Given the description of an element on the screen output the (x, y) to click on. 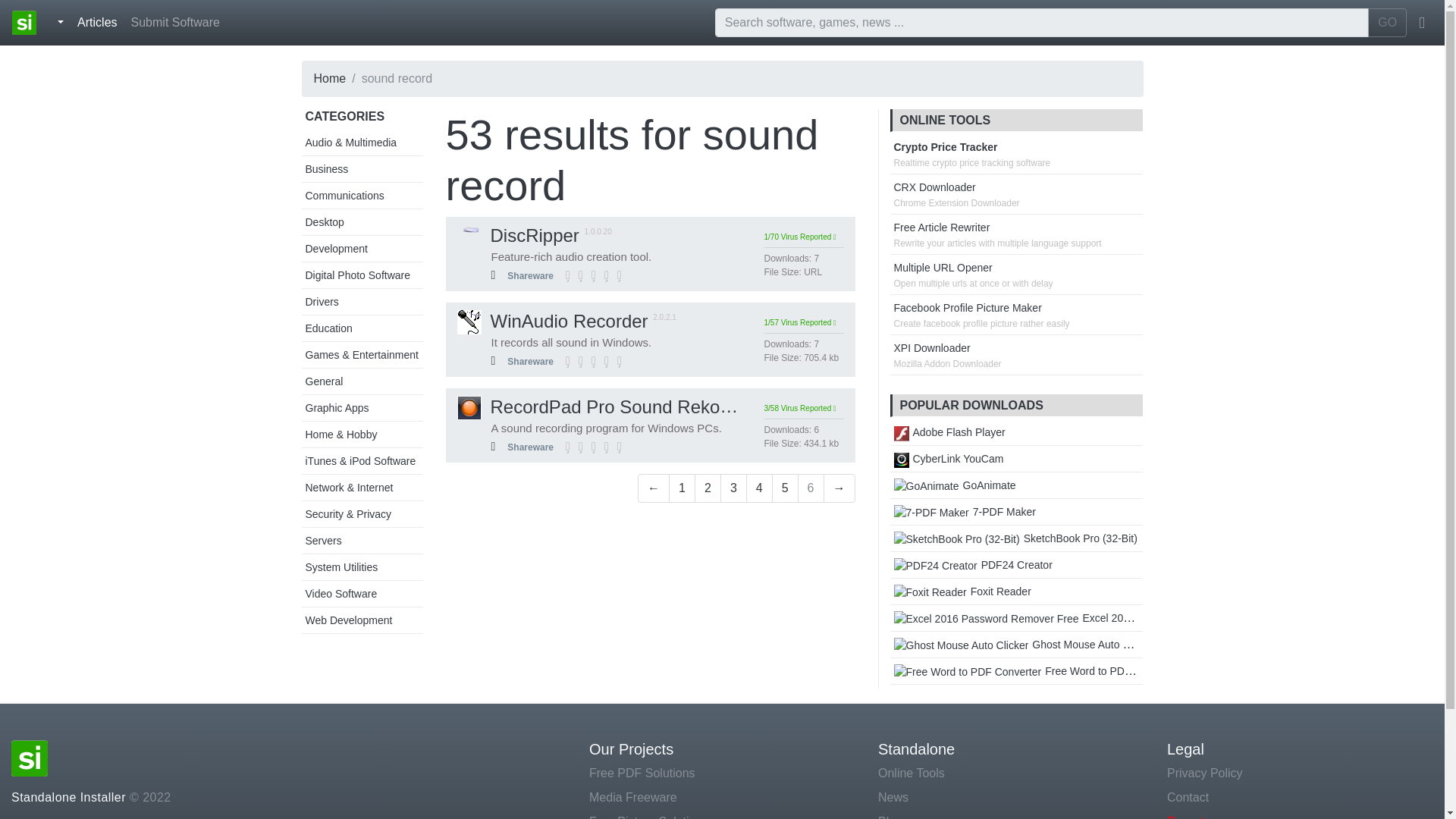
Desktop (323, 222)
Servers (322, 540)
DiscRipper (517, 235)
Drivers (320, 301)
System Utilities (340, 567)
Business (325, 168)
Communications (344, 195)
GO (1387, 22)
Submit Software (175, 22)
Graphic Apps (336, 408)
